Given the description of an element on the screen output the (x, y) to click on. 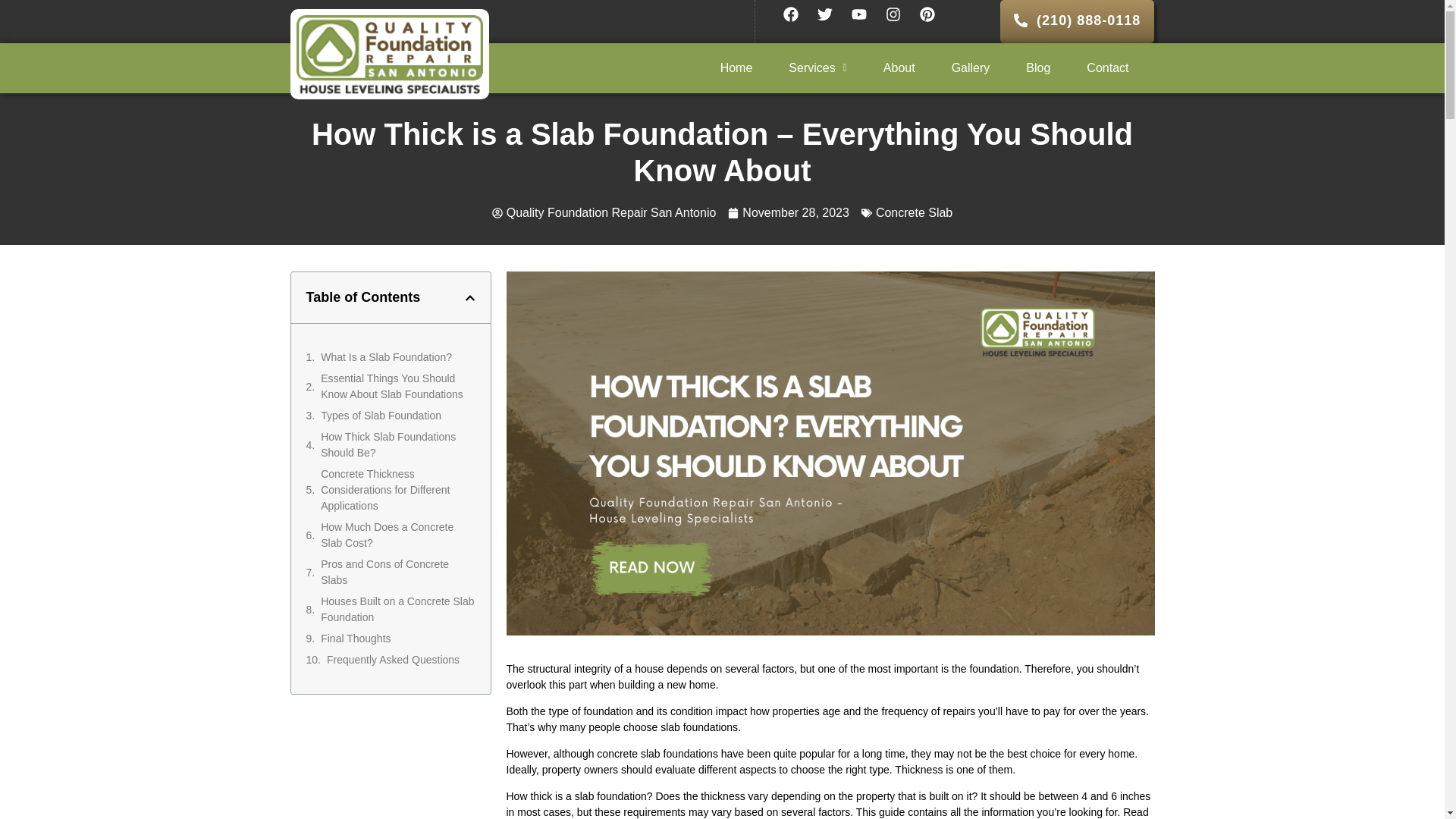
What Is a Slab Foundation? (385, 357)
About (898, 67)
Concrete Thickness Considerations for Different Applications (397, 490)
Gallery (971, 67)
Services (817, 67)
How Much Does a Concrete Slab Cost? (397, 535)
Concrete Slab (914, 212)
Types of Slab Foundation (380, 415)
Home (736, 67)
Blog (1037, 67)
Pros and Cons of Concrete Slabs (397, 572)
Quality Foundation Repair San Antonio (604, 212)
November 28, 2023 (788, 212)
Essential Things You Should Know About Slab Foundations (397, 386)
Contact (1107, 67)
